Given the description of an element on the screen output the (x, y) to click on. 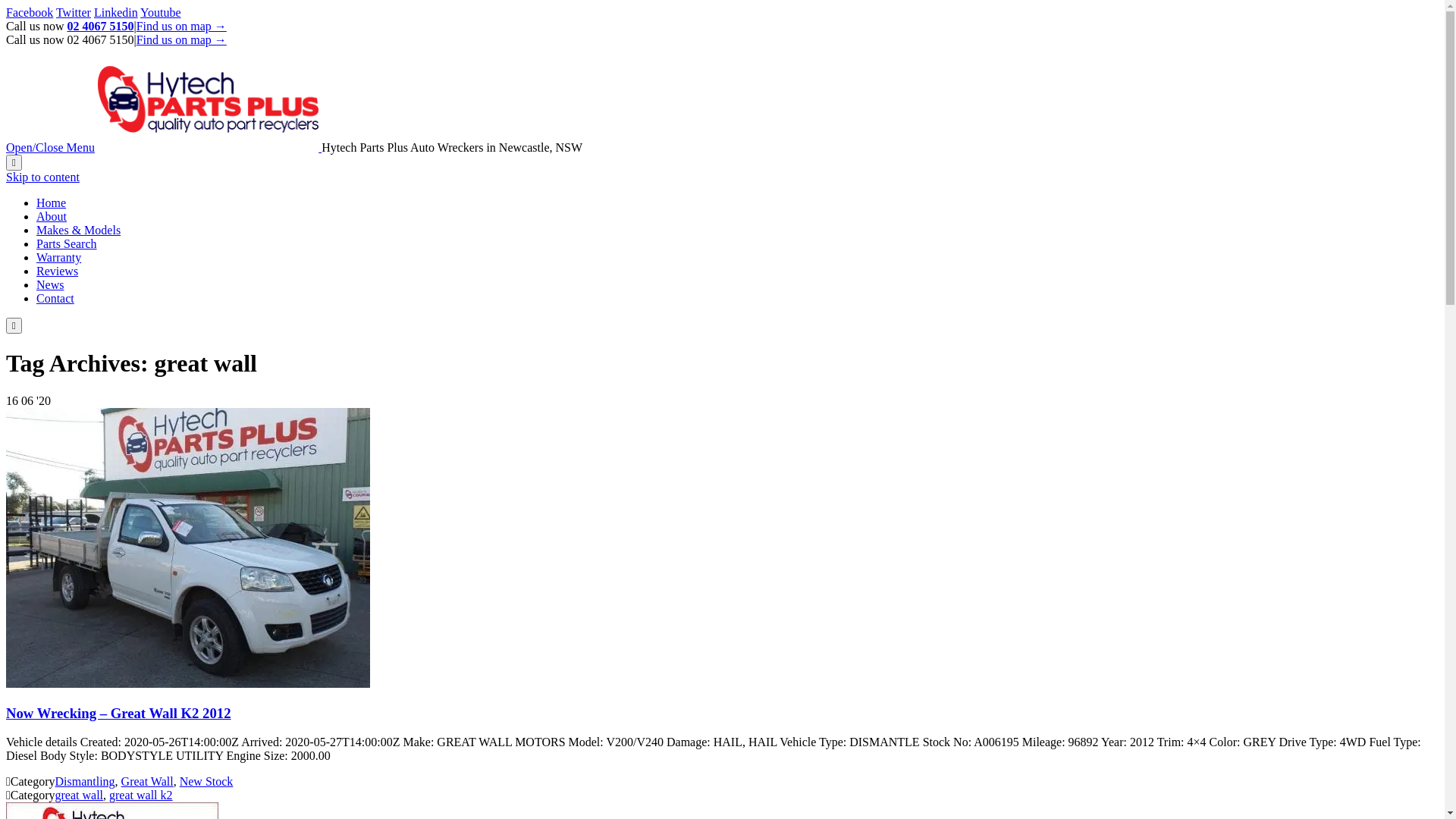
Makes & Models Element type: text (78, 229)
New Stock Element type: text (206, 781)
Facebook Element type: text (29, 12)
Youtube Element type: text (160, 12)
Linkedin Element type: text (116, 12)
great wall Element type: text (78, 794)
Hytech Parts Plus Auto Wreckers in Newcastle, NSW Element type: hover (209, 147)
Great Wall Element type: text (147, 781)
02 4067 5150 Element type: text (99, 25)
Skip to content Element type: text (42, 176)
Contact Element type: text (55, 297)
Twitter Element type: text (73, 12)
About Element type: text (51, 216)
Open/Close Menu Element type: text (50, 147)
Home Element type: text (50, 202)
Warranty Element type: text (58, 257)
Reviews Element type: text (57, 270)
News Element type: text (49, 284)
Dismantling Element type: text (84, 781)
Parts Search Element type: text (66, 243)
great wall k2 Element type: text (140, 794)
